Given the description of an element on the screen output the (x, y) to click on. 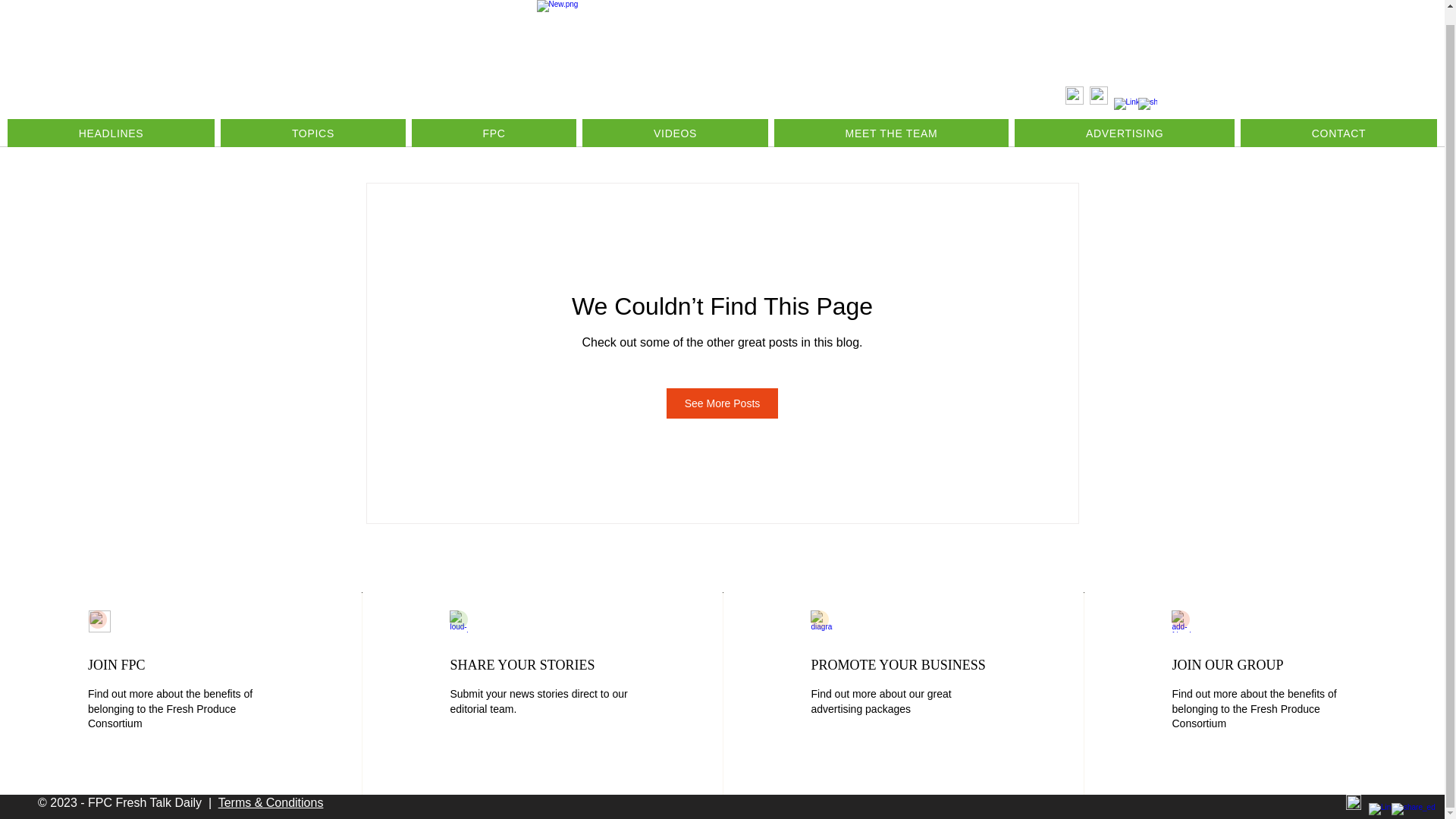
partnership.png (460, 621)
ADVERTISING (1124, 118)
partnership.png (1182, 621)
MEET THE TEAM (891, 118)
JOIN OUR GROUP (1227, 664)
JOIN FPC (116, 664)
Submit your news stories direct to our editorial team. (538, 700)
See More Posts (722, 403)
